Given the description of an element on the screen output the (x, y) to click on. 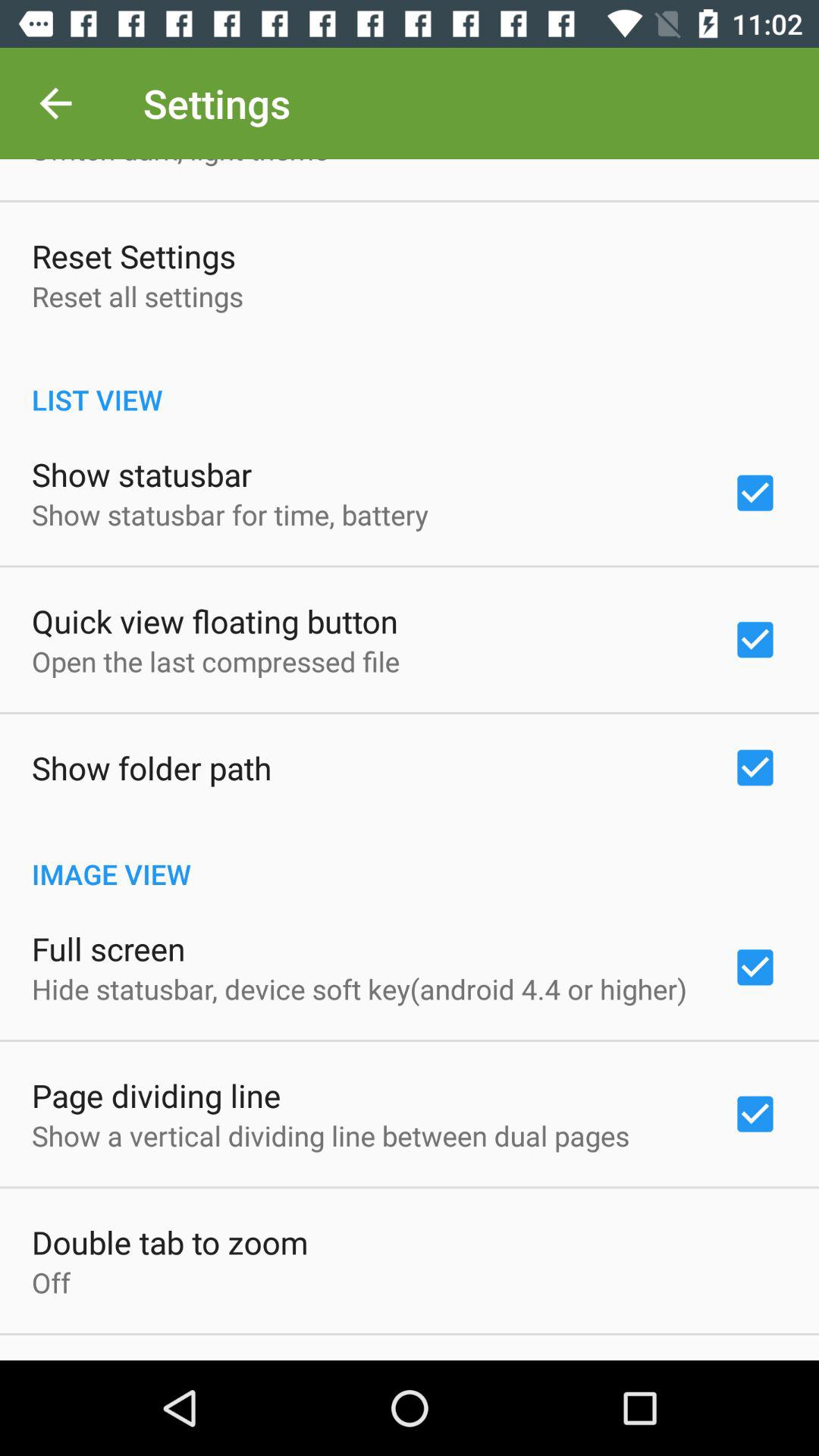
launch full screen icon (108, 948)
